Given the description of an element on the screen output the (x, y) to click on. 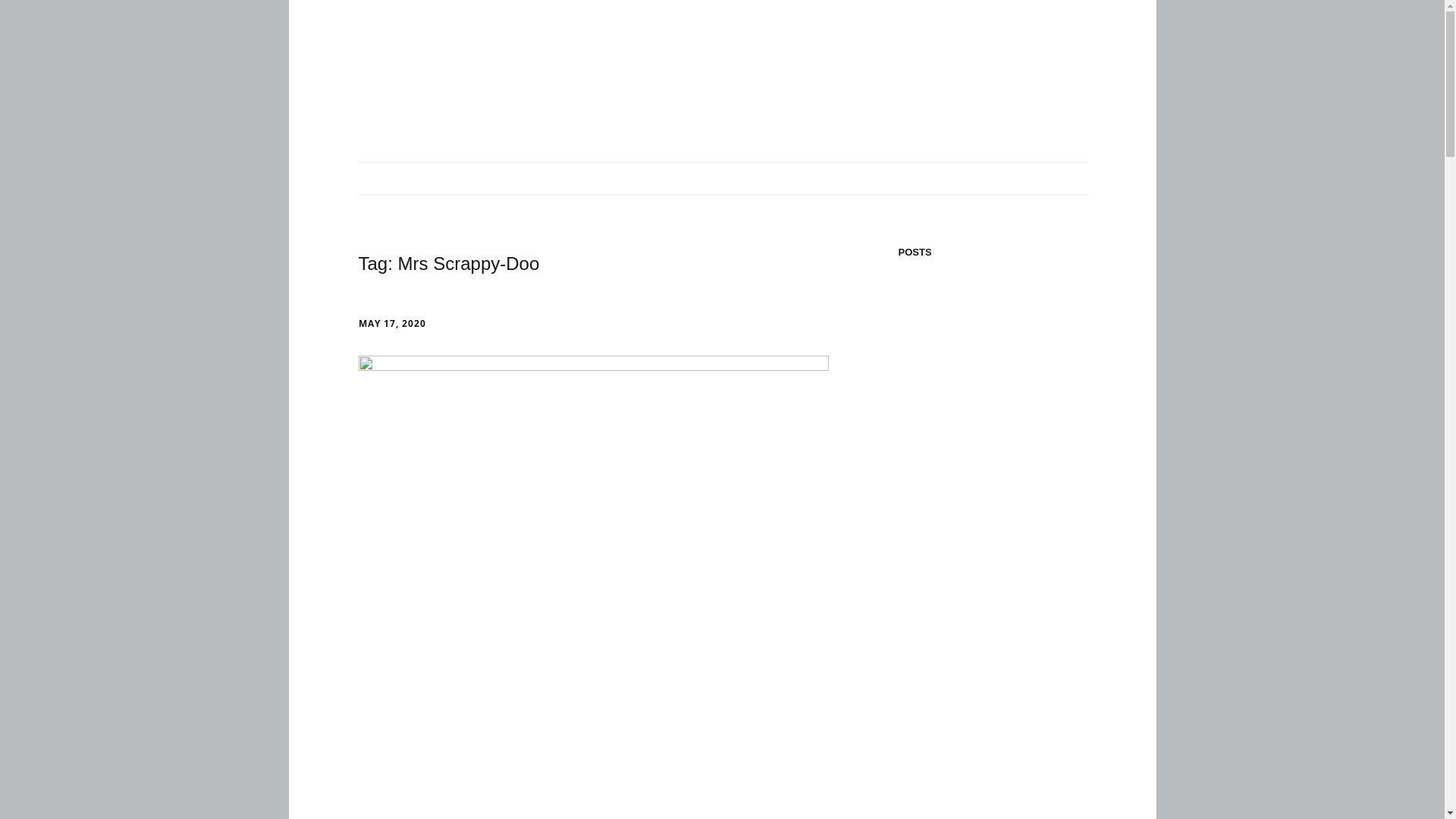
DirtBikeGirl Element type: text (585, 178)
MAY 17, 2020 Element type: text (391, 322)
BakkerBoy Element type: text (502, 178)
BAKKER.ca Element type: text (516, 65)
Blog Element type: text (438, 178)
Funny Bits Element type: text (907, 178)
Home Element type: text (384, 178)
Blaze Manikan Element type: text (678, 178)
Letters From A Bakker Element type: text (798, 178)
